Given the description of an element on the screen output the (x, y) to click on. 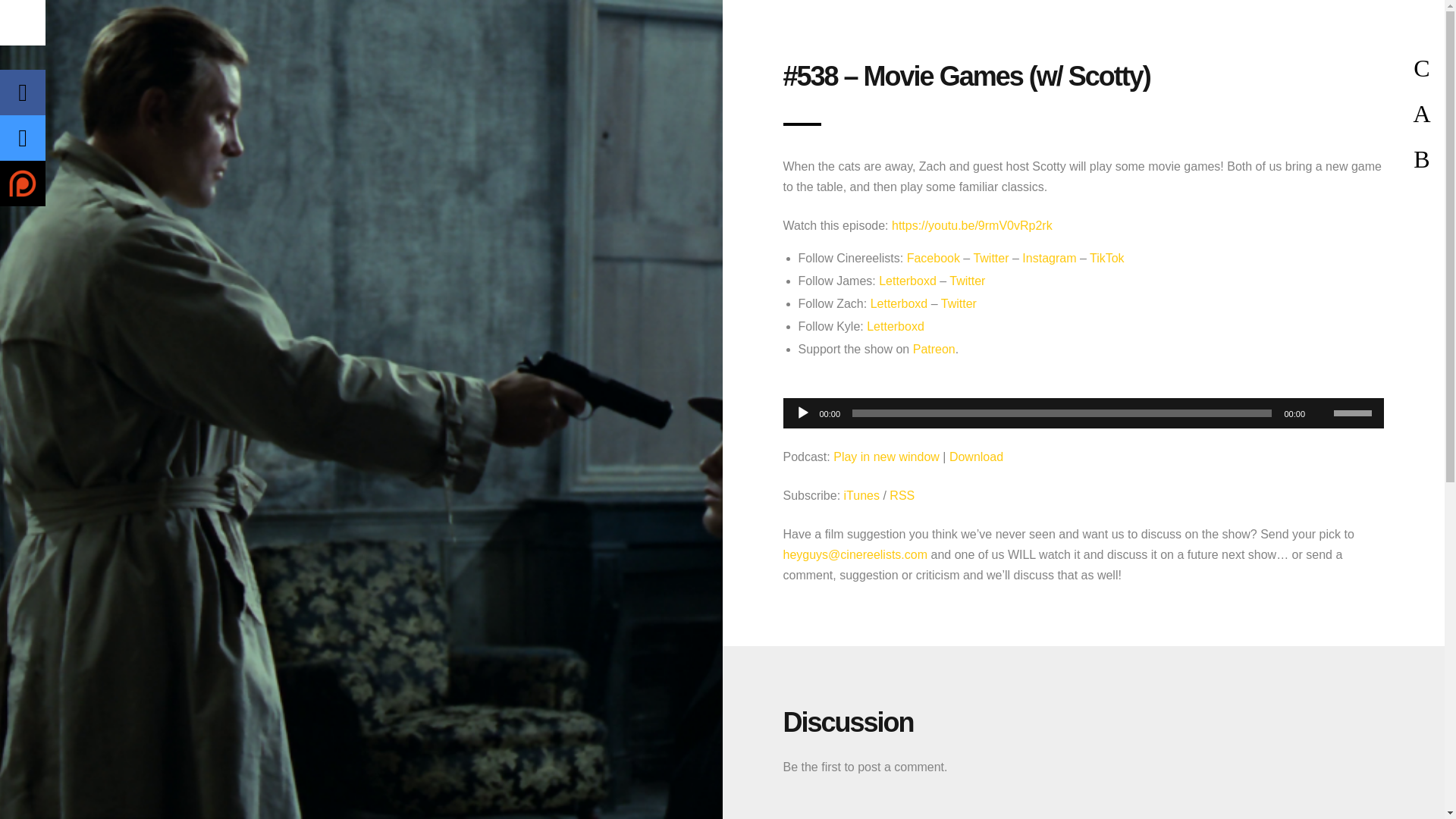
Twitter (990, 257)
Patreon (933, 349)
Letterboxd (899, 303)
TikTok (1106, 257)
iTunes (861, 495)
Instagram (1048, 257)
RSS (901, 495)
Twitter (967, 280)
Play in new window (885, 456)
Twitter (958, 303)
